Given the description of an element on the screen output the (x, y) to click on. 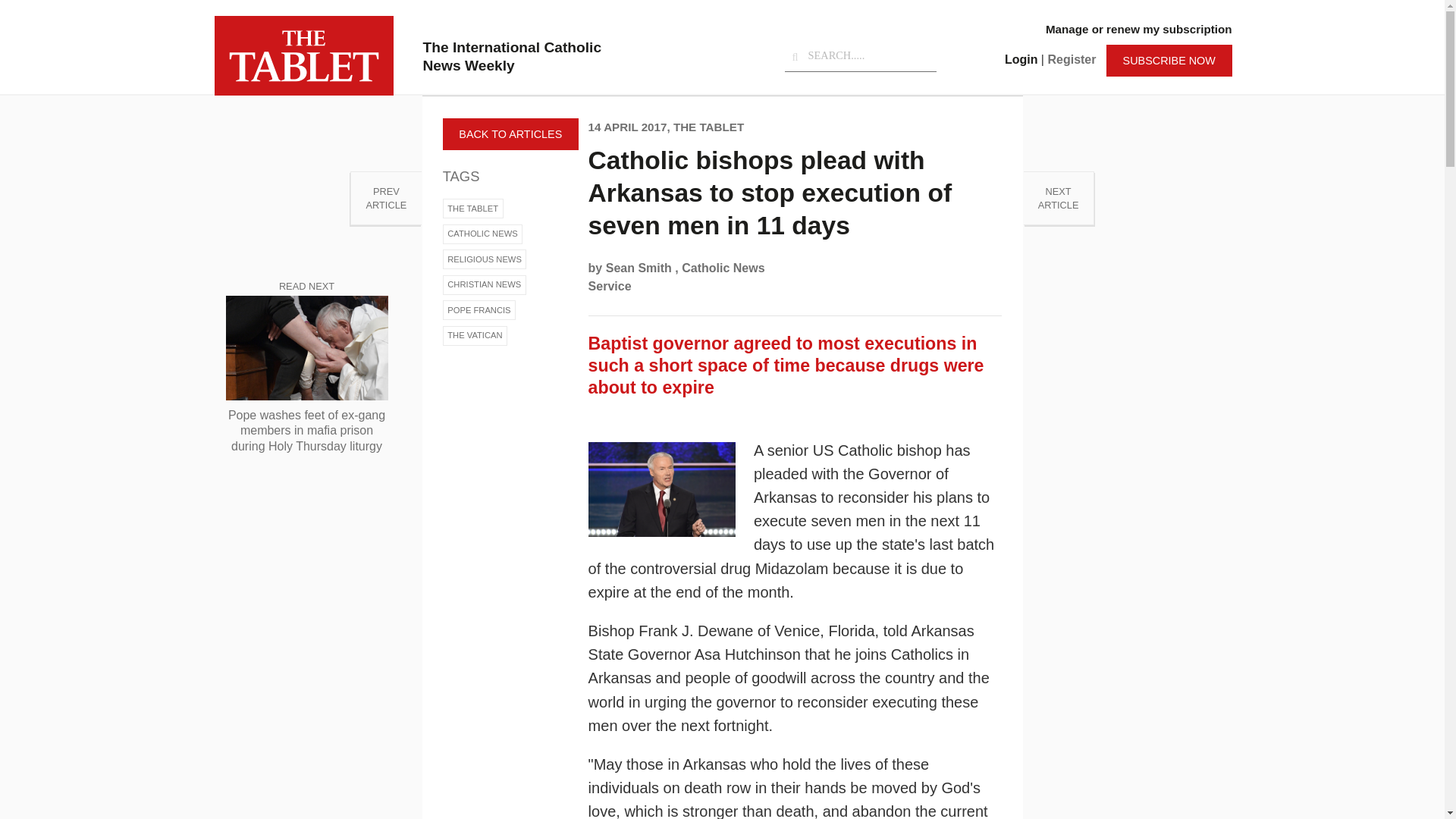
Pope Francis (479, 310)
The Tablet (303, 54)
POPE FRANCIS (479, 310)
Catholic news (385, 198)
Religious news (482, 234)
Login (484, 259)
THE VATICAN (1021, 59)
Manage or renew my subscription (475, 335)
The Tablet (1058, 198)
